Given the description of an element on the screen output the (x, y) to click on. 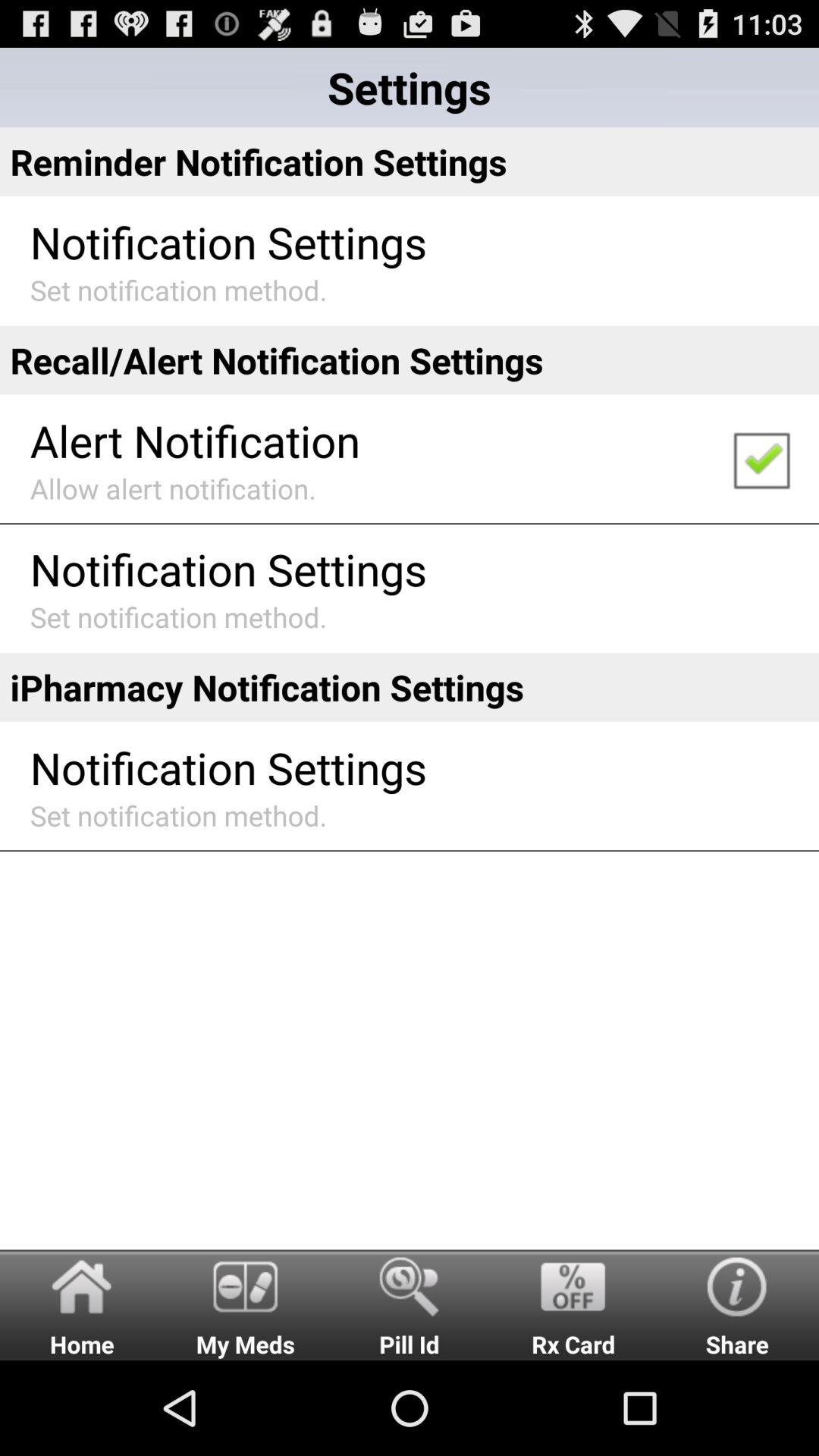
turn off the radio button next to pill id icon (245, 1304)
